Given the description of an element on the screen output the (x, y) to click on. 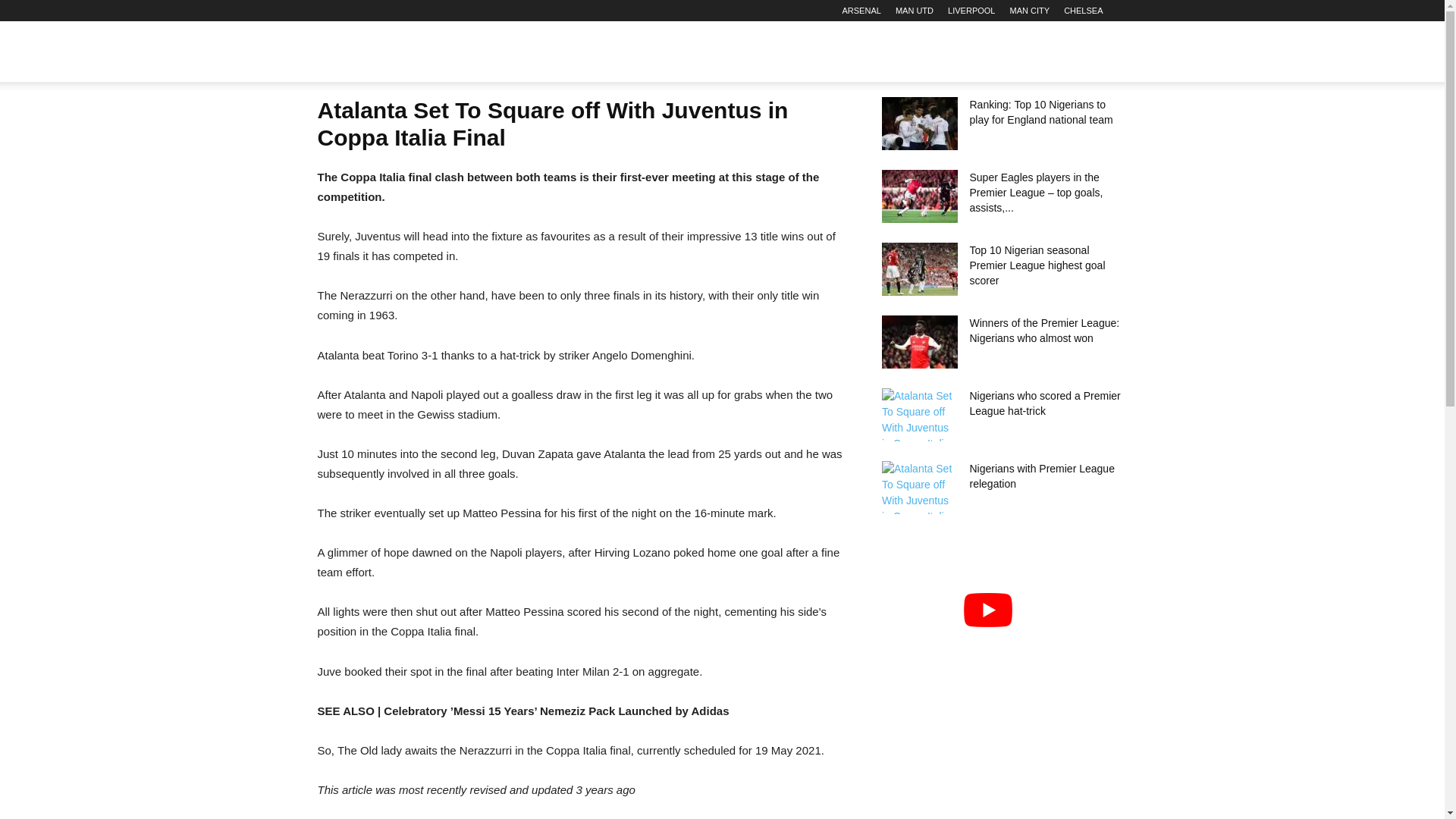
LIVERPOOL (970, 10)
Top 10 Nigerian seasonal Premier League highest goal scorer (918, 268)
Ranking: Top 10 Nigerians to play for England national team (1040, 112)
ARSENAL (860, 10)
Ranking: Top 10 Nigerians to play for England national team (918, 123)
GOALBALL (392, 52)
MAN UTD (914, 10)
